Given the description of an element on the screen output the (x, y) to click on. 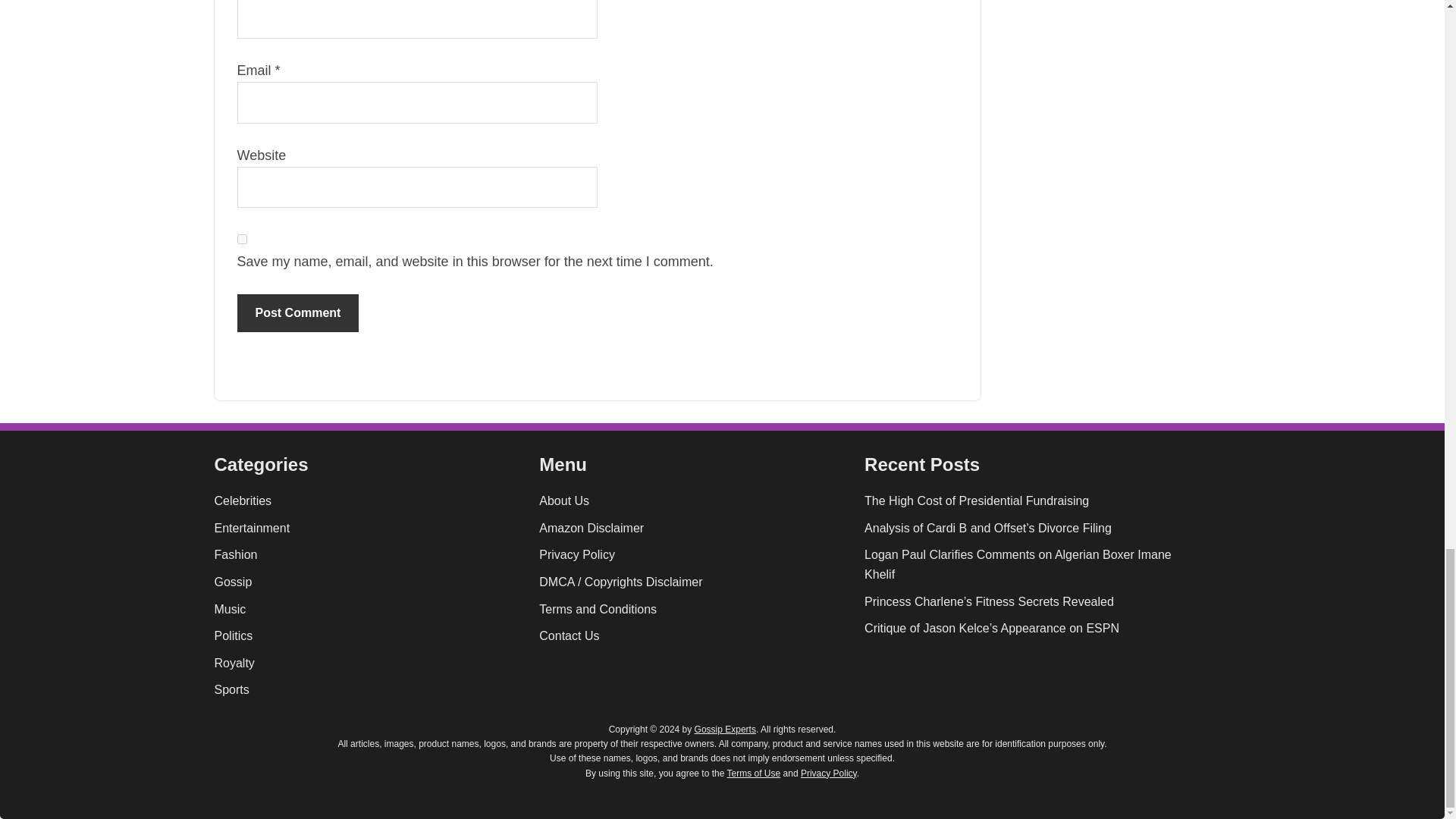
Post Comment (296, 313)
yes (240, 239)
